Given the description of an element on the screen output the (x, y) to click on. 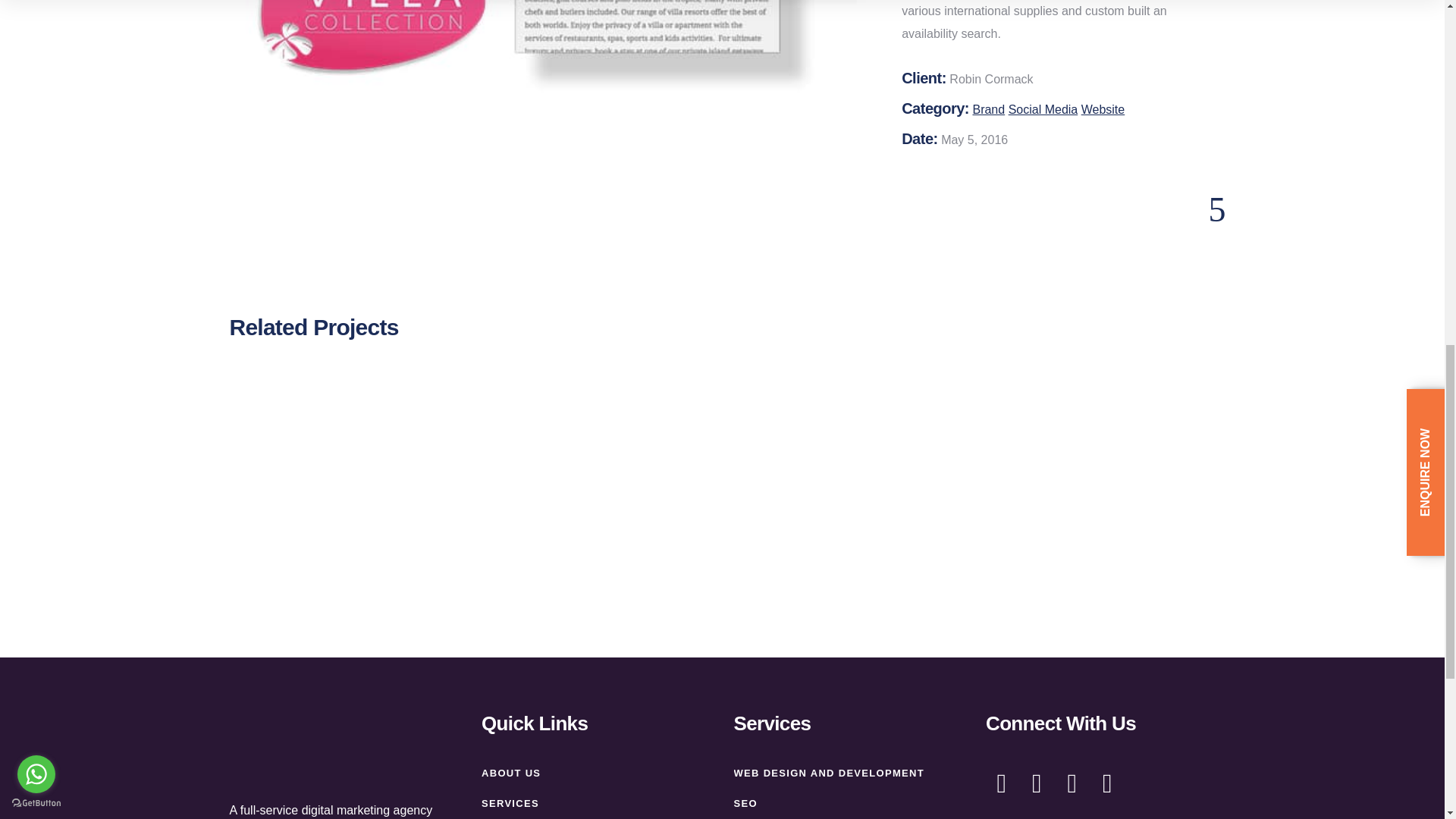
Mm The Villa Collection (553, 47)
